Given the description of an element on the screen output the (x, y) to click on. 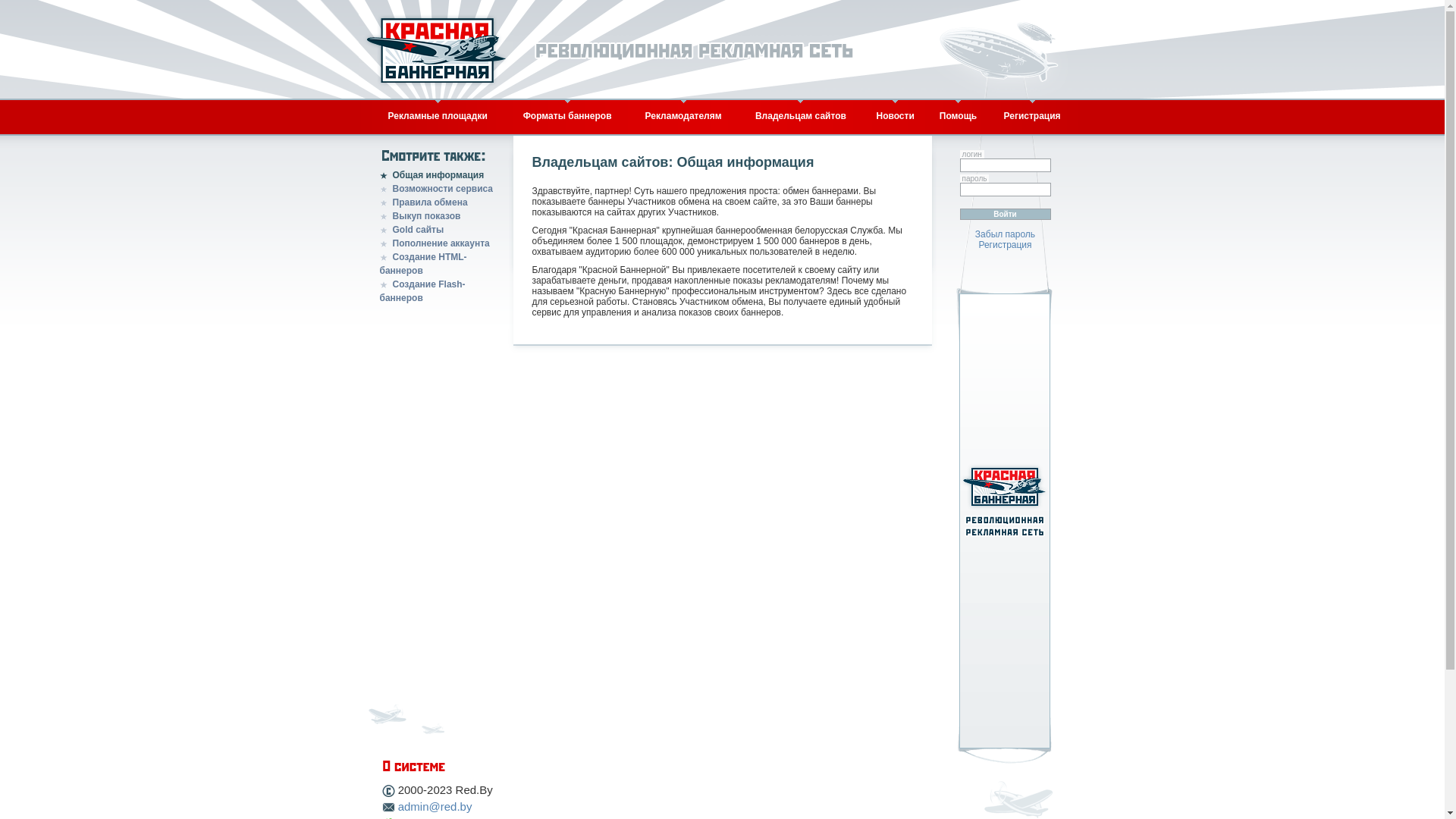
admin@red.by Element type: text (435, 806)
